Given the description of an element on the screen output the (x, y) to click on. 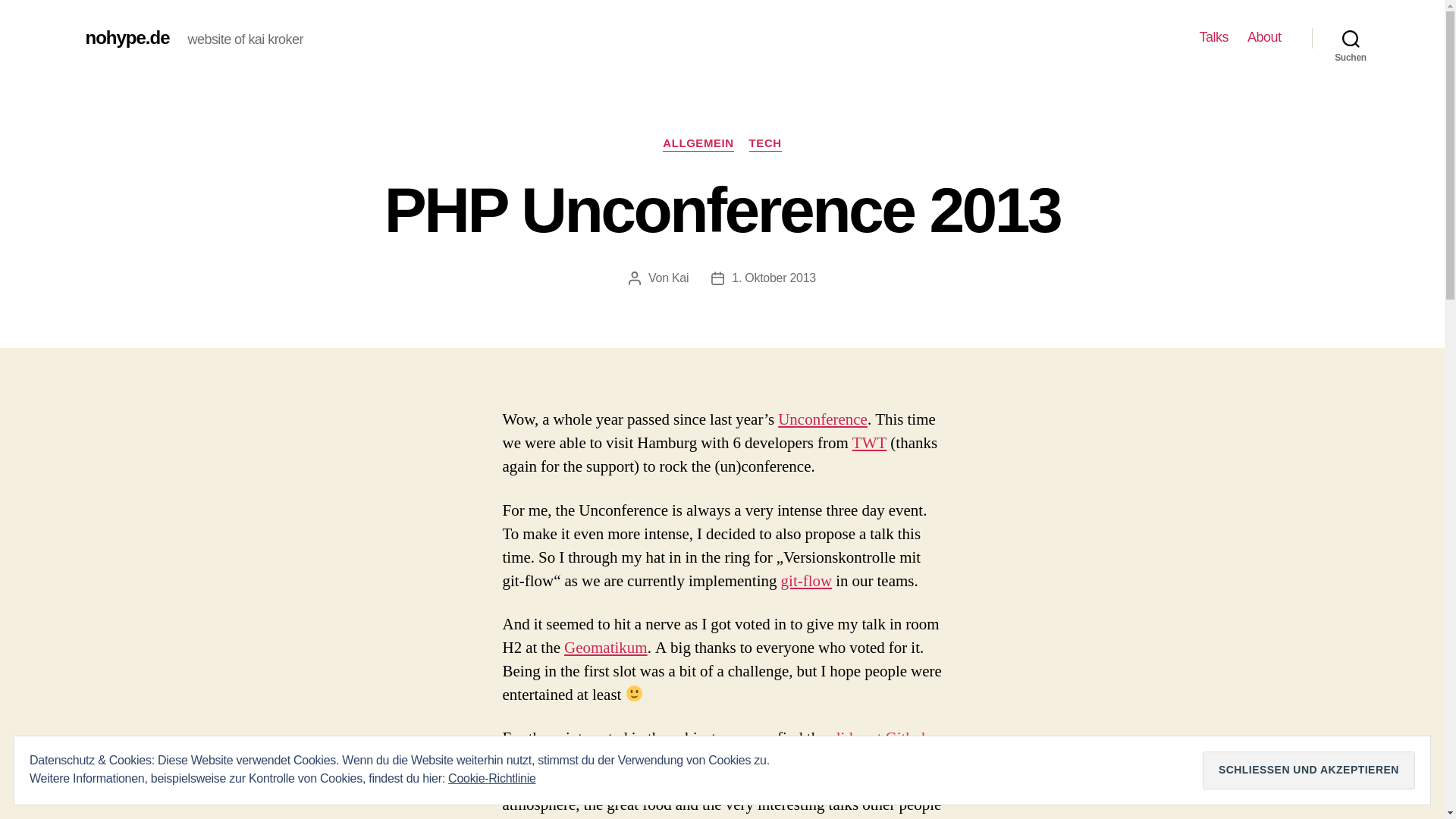
Talks (1213, 37)
About (1264, 37)
TWT (868, 443)
TECH (765, 143)
slides at Github (878, 738)
nohype.de (126, 37)
Suchen (1350, 37)
git-flow (806, 580)
ALLGEMEIN (697, 143)
1. Oktober 2013 (773, 277)
Unconference (822, 419)
Geomatikum (605, 648)
Kai (679, 277)
